Given the description of an element on the screen output the (x, y) to click on. 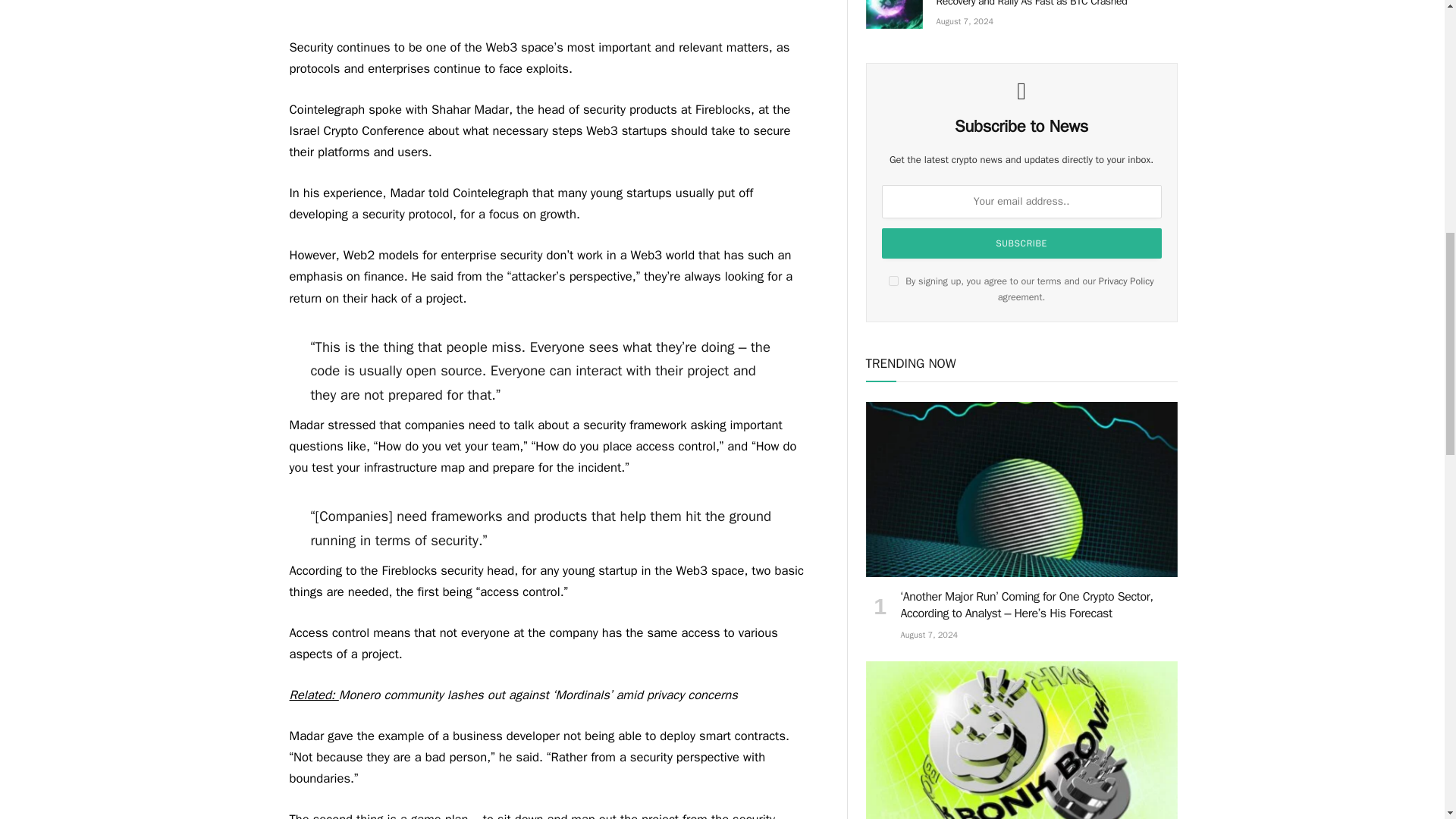
Subscribe (1021, 243)
on (893, 280)
